Given the description of an element on the screen output the (x, y) to click on. 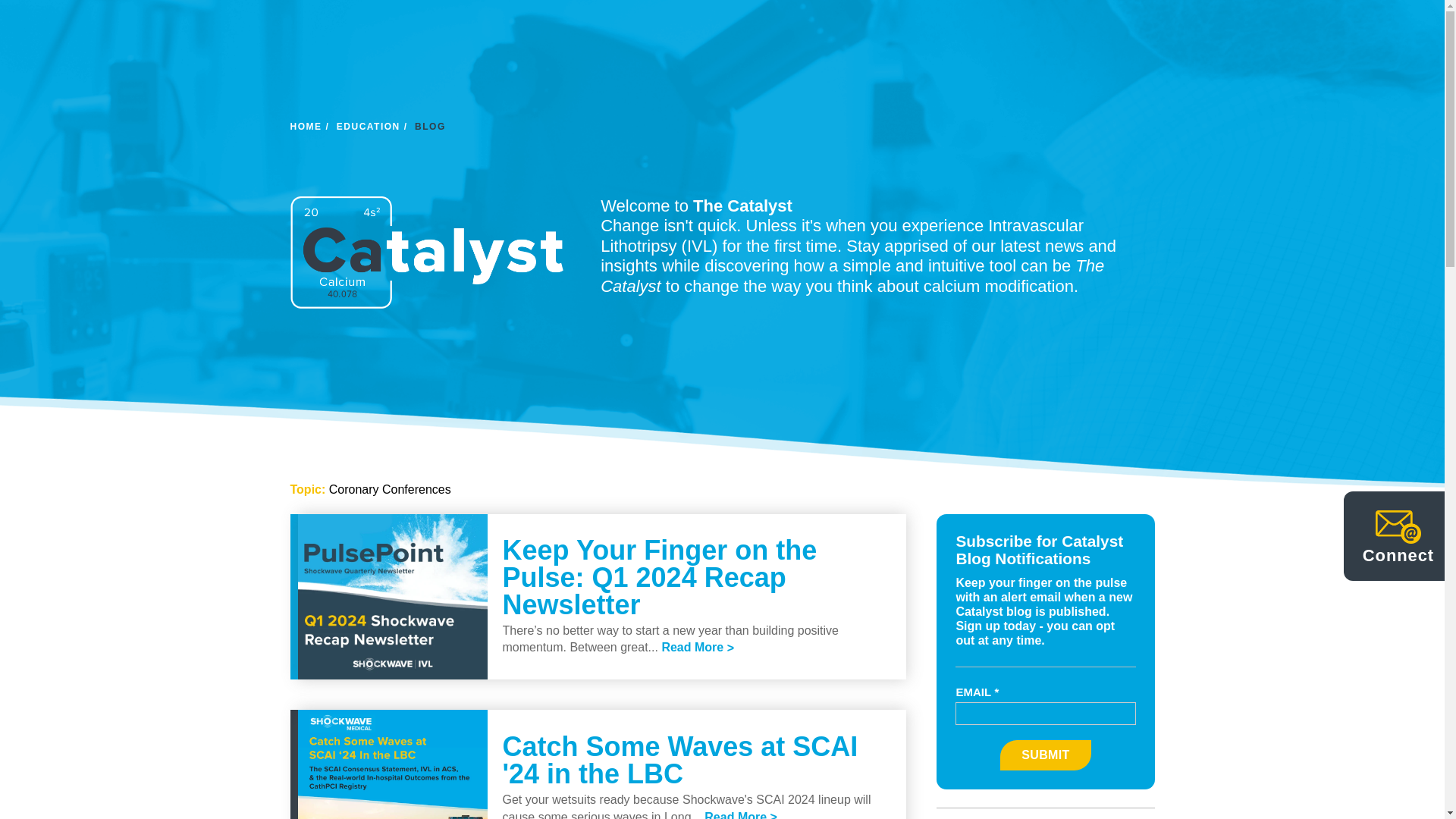
HOME (311, 126)
Connect (1398, 537)
BLOG (429, 126)
Submit (1045, 755)
Submit (1045, 755)
EDUCATION (374, 126)
